Given the description of an element on the screen output the (x, y) to click on. 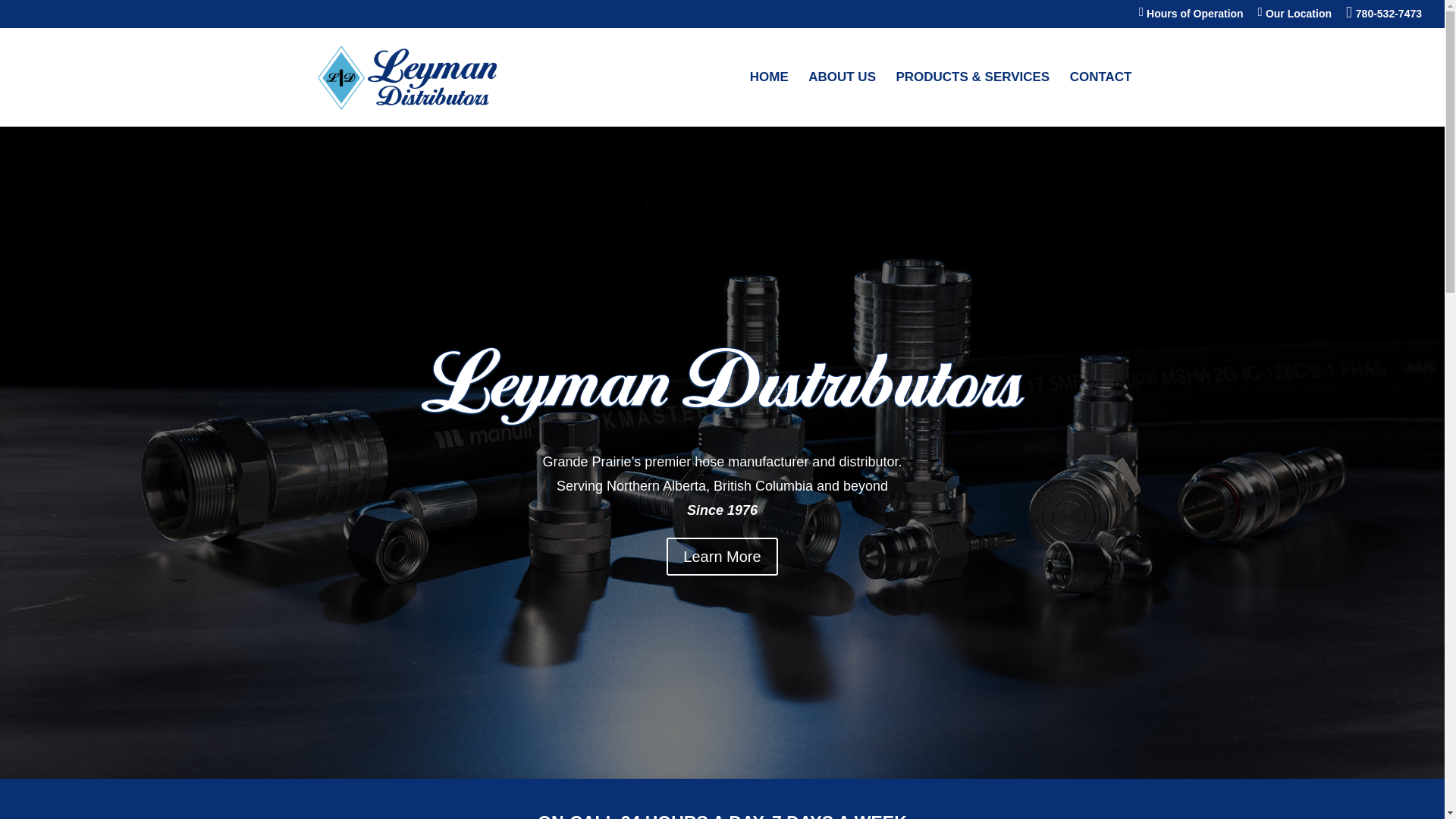
ABOUT US (842, 99)
780-532-7473 (1383, 17)
Hours of Operation (1190, 16)
Our Location (1294, 16)
CONTACT (1101, 99)
